Given the description of an element on the screen output the (x, y) to click on. 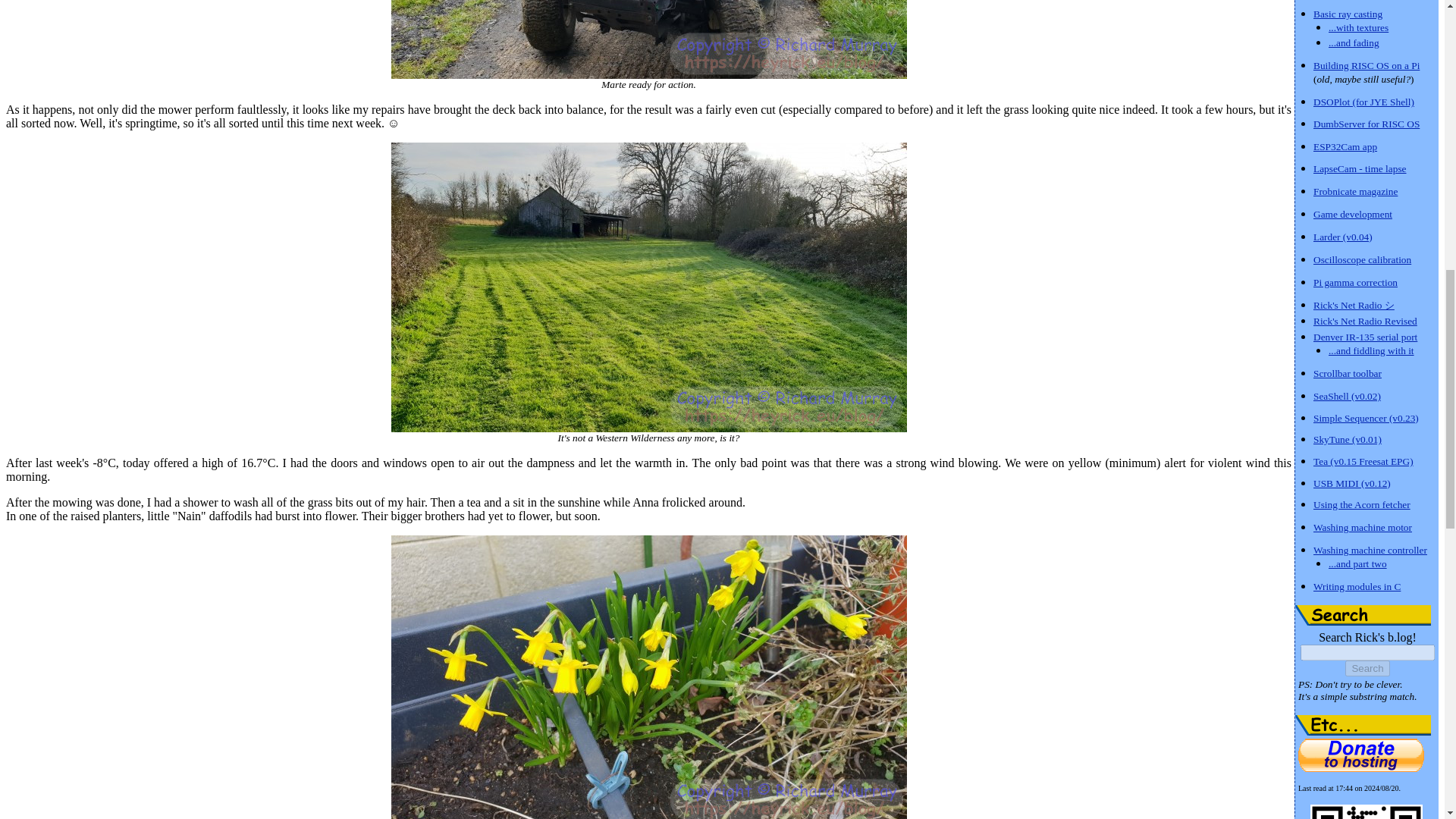
Search (1367, 668)
Etc... (1363, 724)
Search (1363, 615)
